Given the description of an element on the screen output the (x, y) to click on. 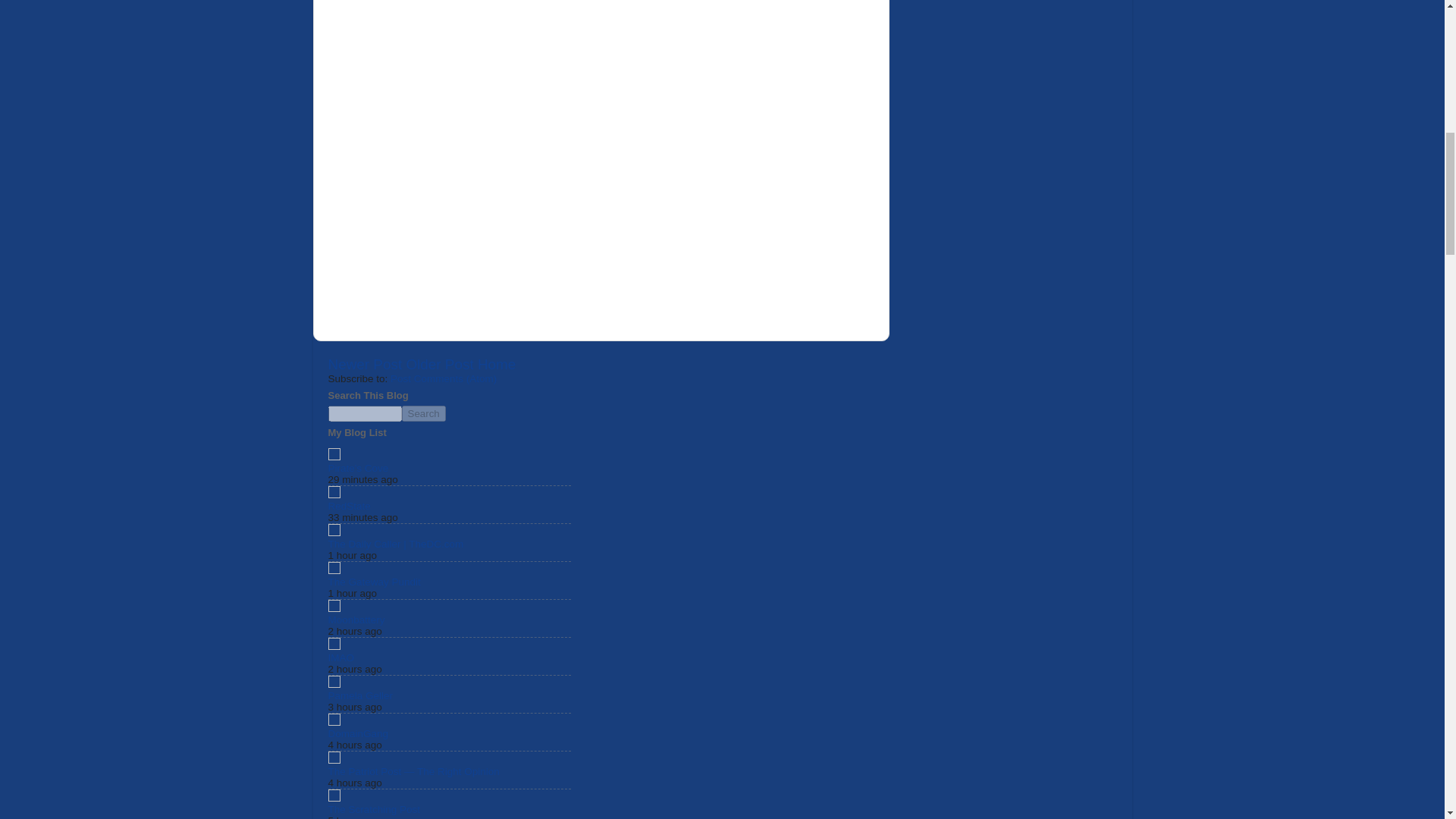
Search (423, 413)
Newer Post (364, 364)
search (364, 413)
Pamela Geller (360, 695)
DomainGang (357, 733)
search (423, 413)
Home (496, 364)
Search (423, 413)
RedState (348, 505)
Older Post (439, 364)
Pirate's Cove (357, 468)
Older Post (439, 364)
IMAO (340, 657)
The Gateway Pundit (373, 582)
The Scratching Post (373, 808)
